Given the description of an element on the screen output the (x, y) to click on. 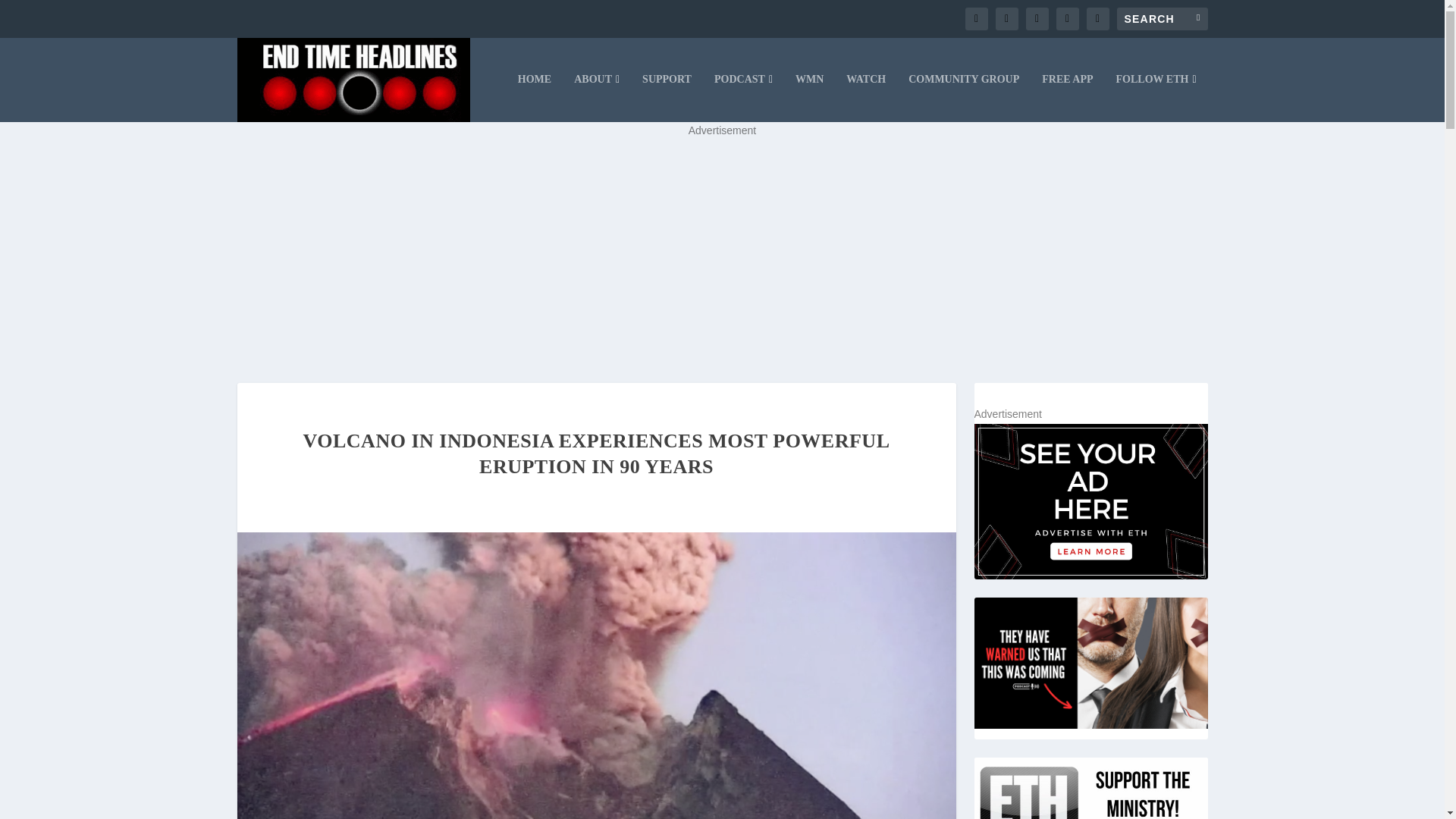
COMMUNITY GROUP (963, 97)
FREE APP (1067, 97)
Search for: (1161, 18)
FOLLOW ETH (1156, 97)
SUPPORT (666, 97)
ABOUT (596, 97)
PODCAST (743, 97)
